Given the description of an element on the screen output the (x, y) to click on. 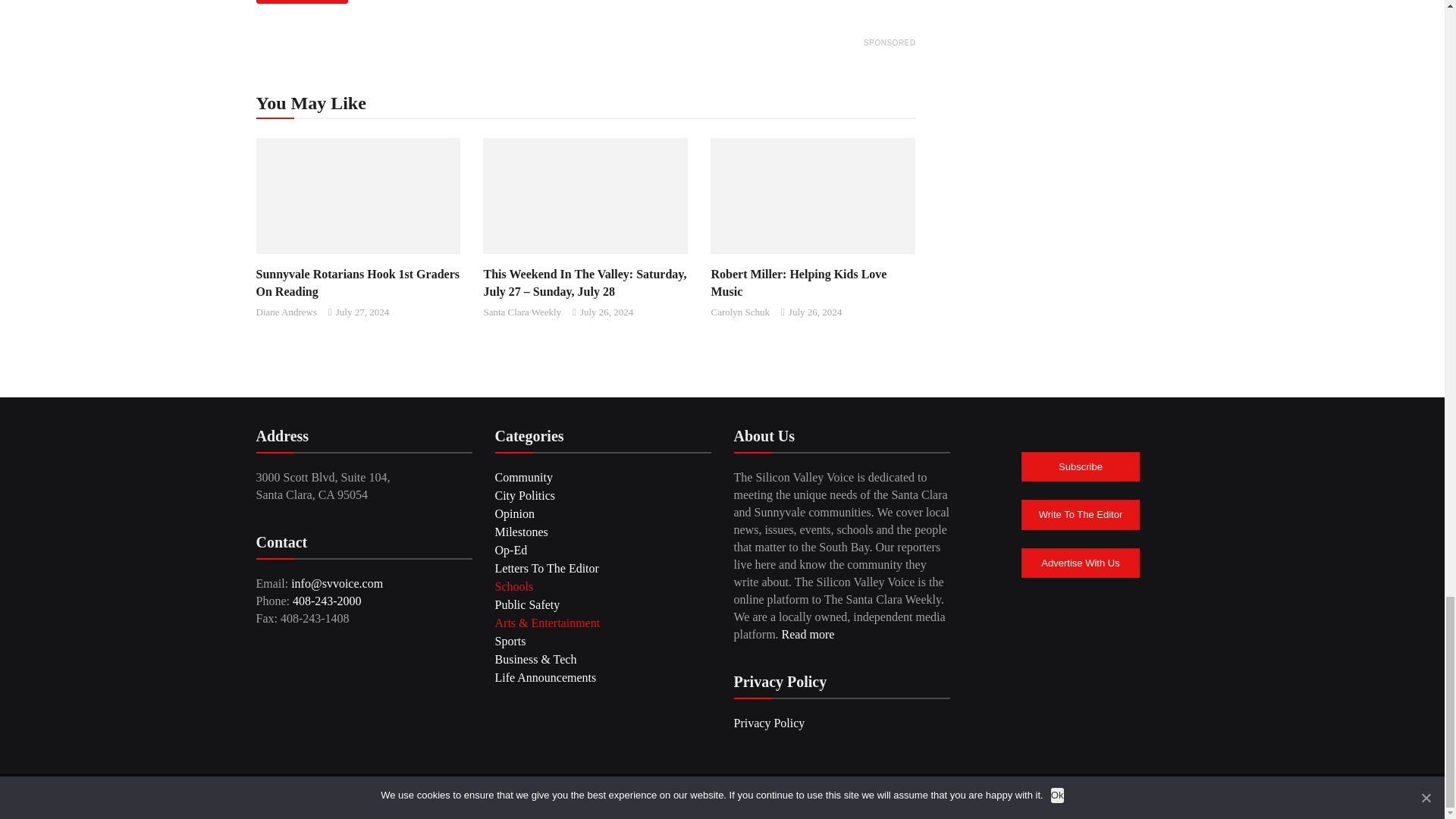
Post Comment (301, 2)
